Given the description of an element on the screen output the (x, y) to click on. 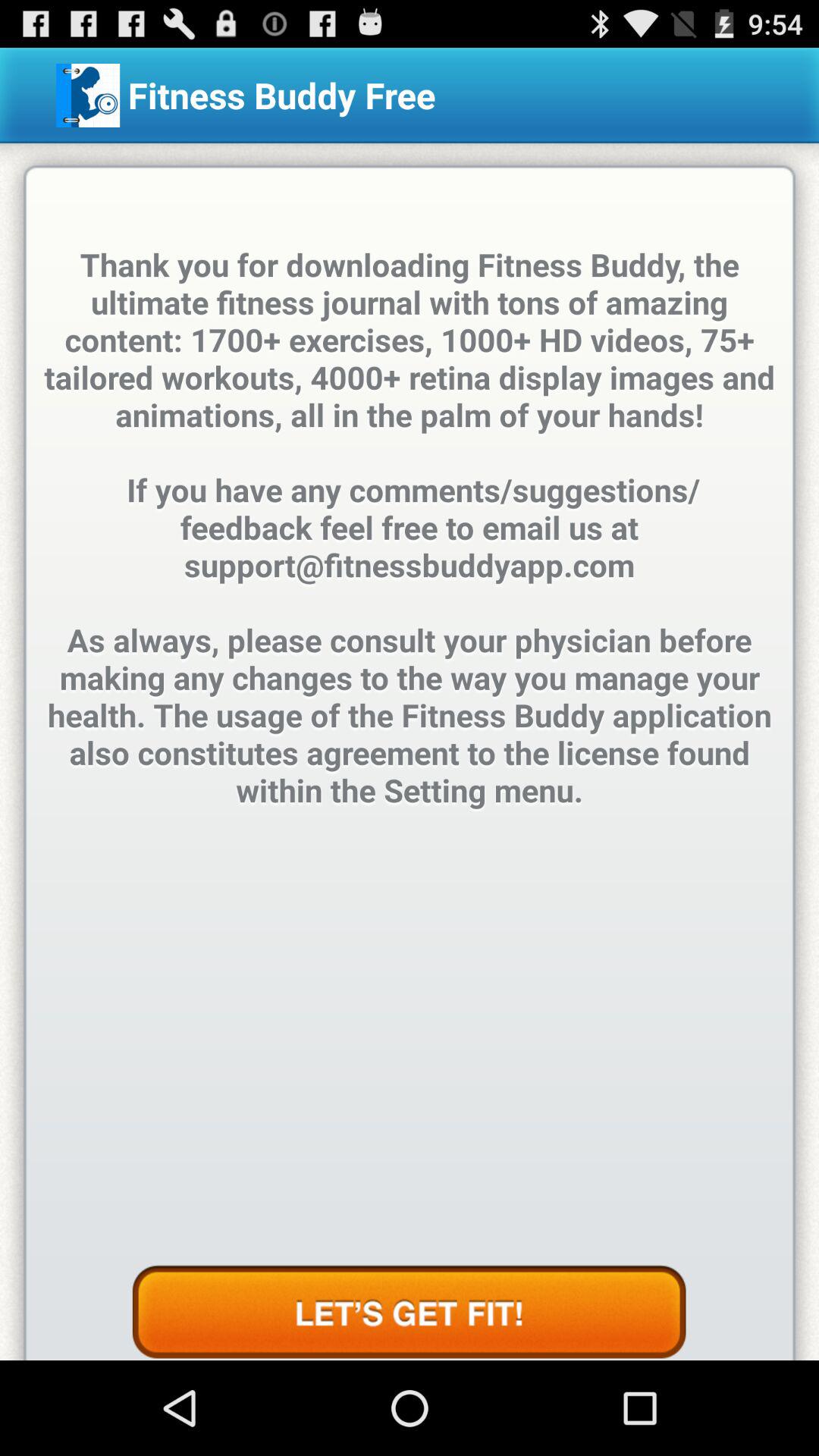
choose app below thank you for app (408, 1312)
